Given the description of an element on the screen output the (x, y) to click on. 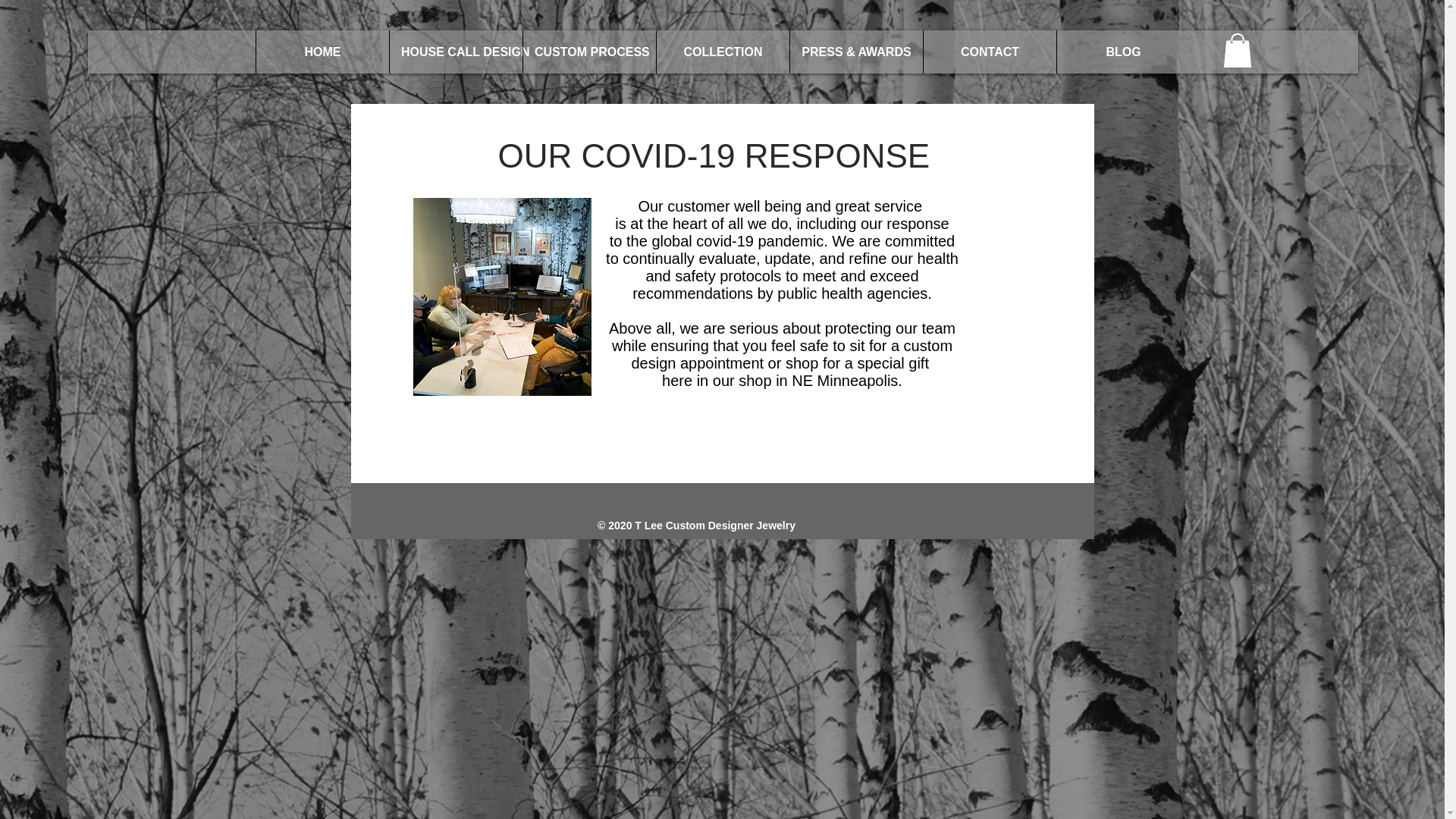
CONTACT (990, 51)
BLOG (1123, 51)
HOME (322, 51)
COLLECTION (722, 51)
HOUSE CALL DESIGN (455, 51)
CUSTOM PROCESS (589, 51)
